Given the description of an element on the screen output the (x, y) to click on. 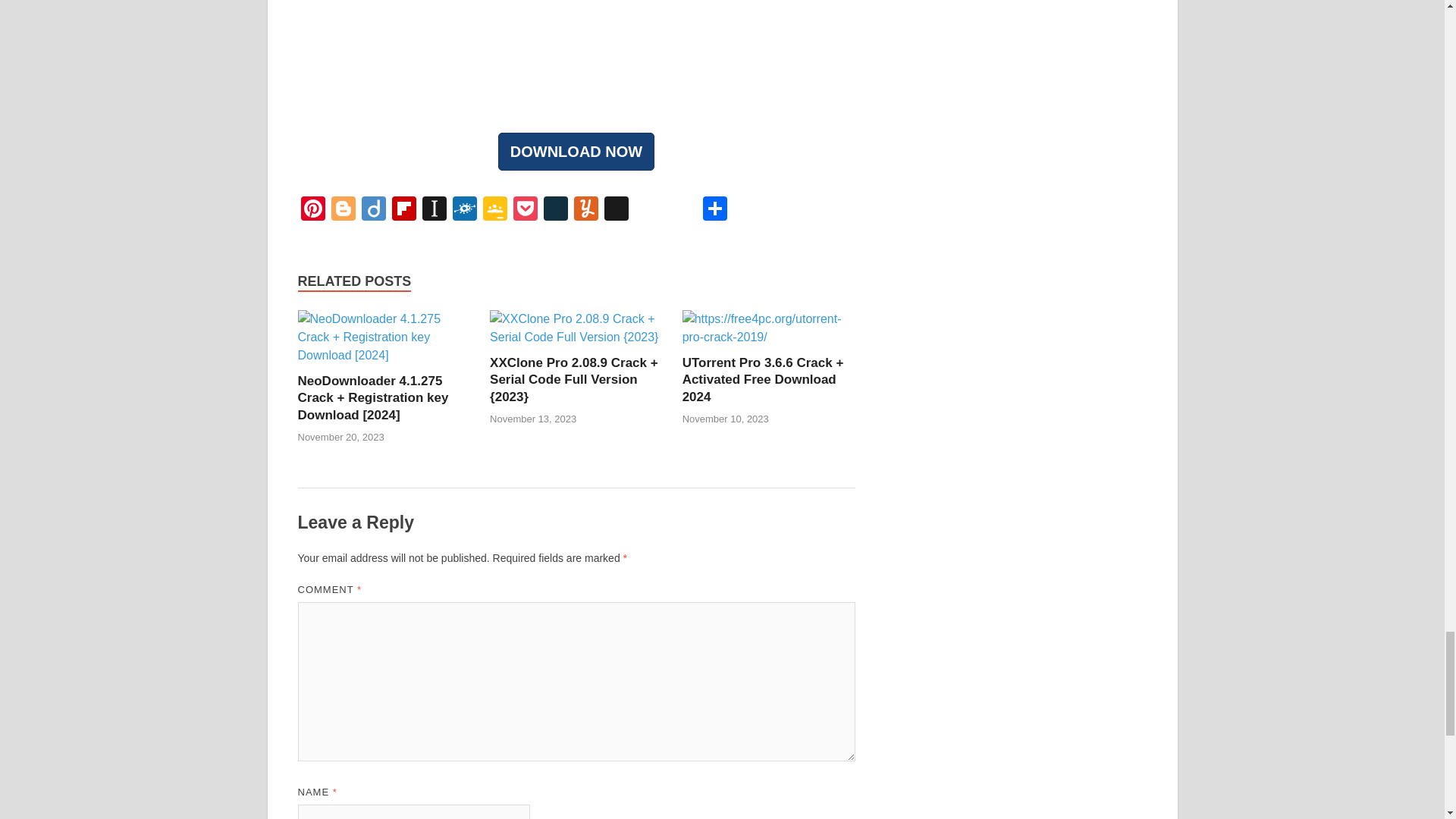
Google Classroom (494, 210)
Folkd (463, 210)
Flipboard (403, 210)
LiveJournal (555, 210)
BibSonomy (614, 210)
Folkd (463, 210)
Pocket (524, 210)
BibSonomy (614, 210)
YouTube video player (575, 50)
Diigo (373, 210)
Pocket (524, 210)
Diigo (373, 210)
Flipboard (403, 210)
Instapaper (433, 210)
Pinterest (312, 210)
